Given the description of an element on the screen output the (x, y) to click on. 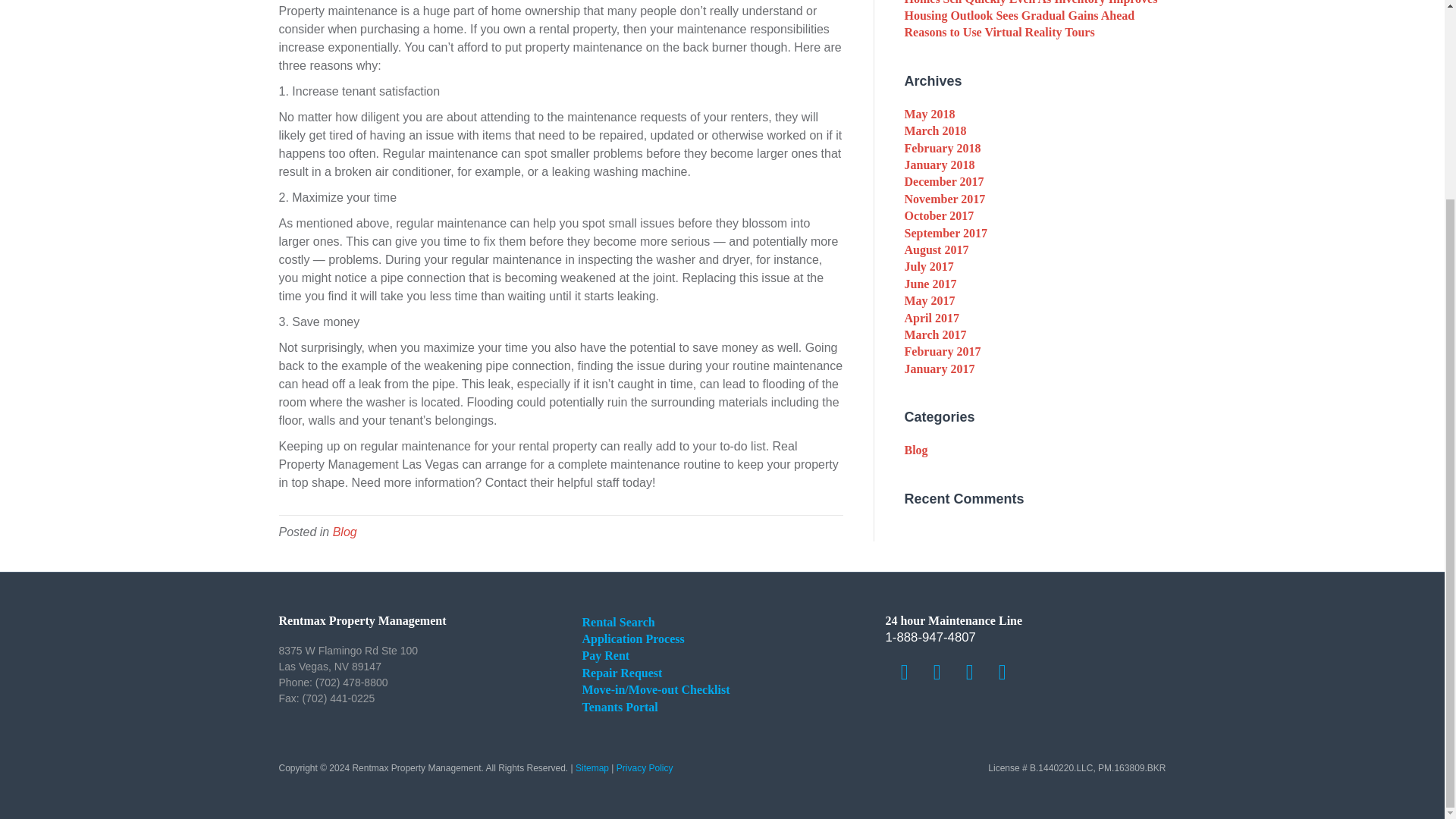
Reasons to Use Virtual Reality Tours (999, 31)
March 2018 (935, 130)
May 2018 (929, 113)
February 2018 (941, 147)
Housing Outlook Sees Gradual Gains Ahead (1019, 15)
Homes Sell Quickly Even As Inventory Improves (1030, 2)
Blog (344, 531)
